Given the description of an element on the screen output the (x, y) to click on. 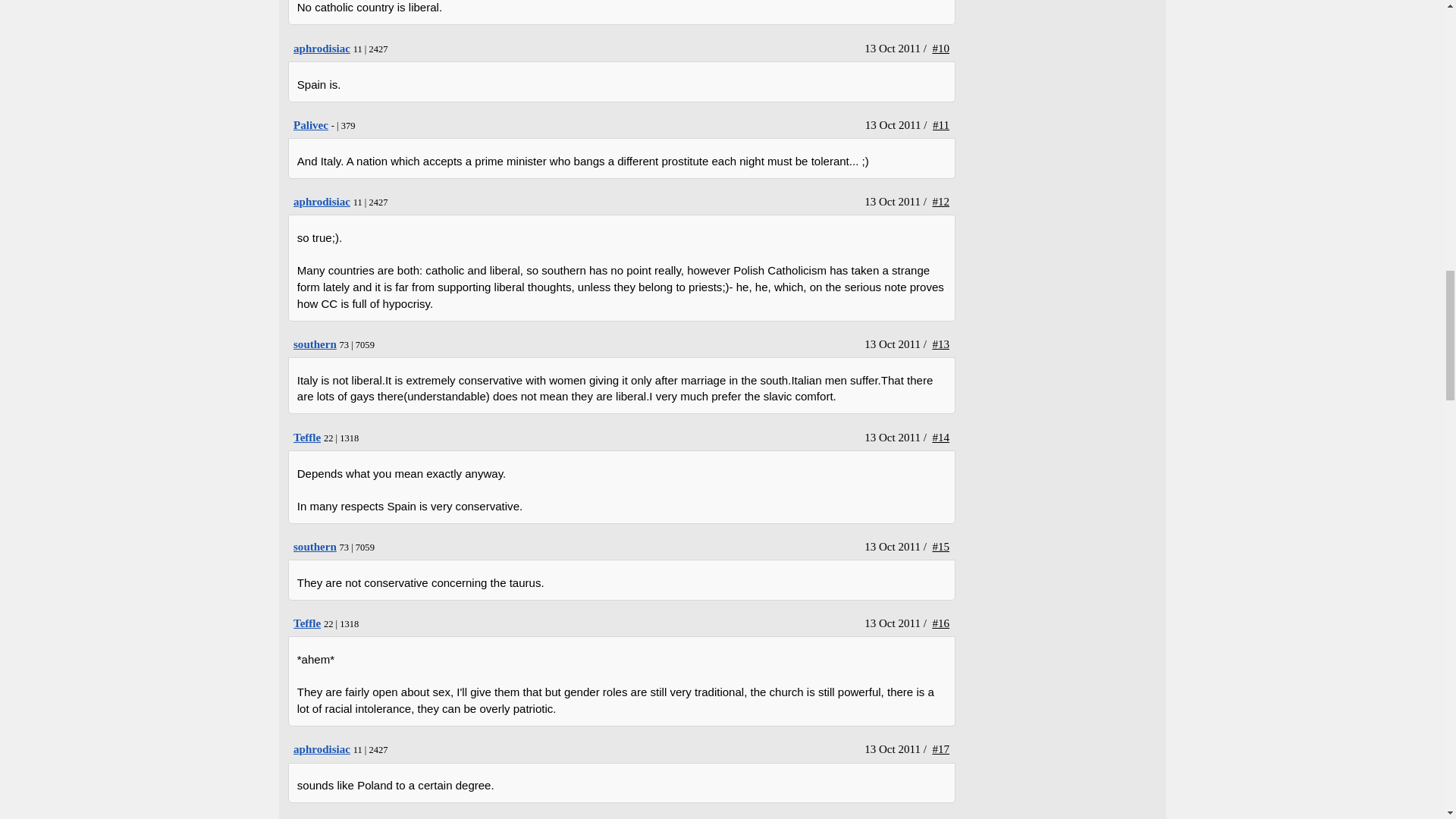
Palivec (311, 124)
aphrodisiac (322, 48)
aphrodisiac (322, 748)
southern (315, 344)
aphrodisiac (322, 201)
Teffle (307, 623)
Teffle (307, 437)
southern (315, 546)
